Given the description of an element on the screen output the (x, y) to click on. 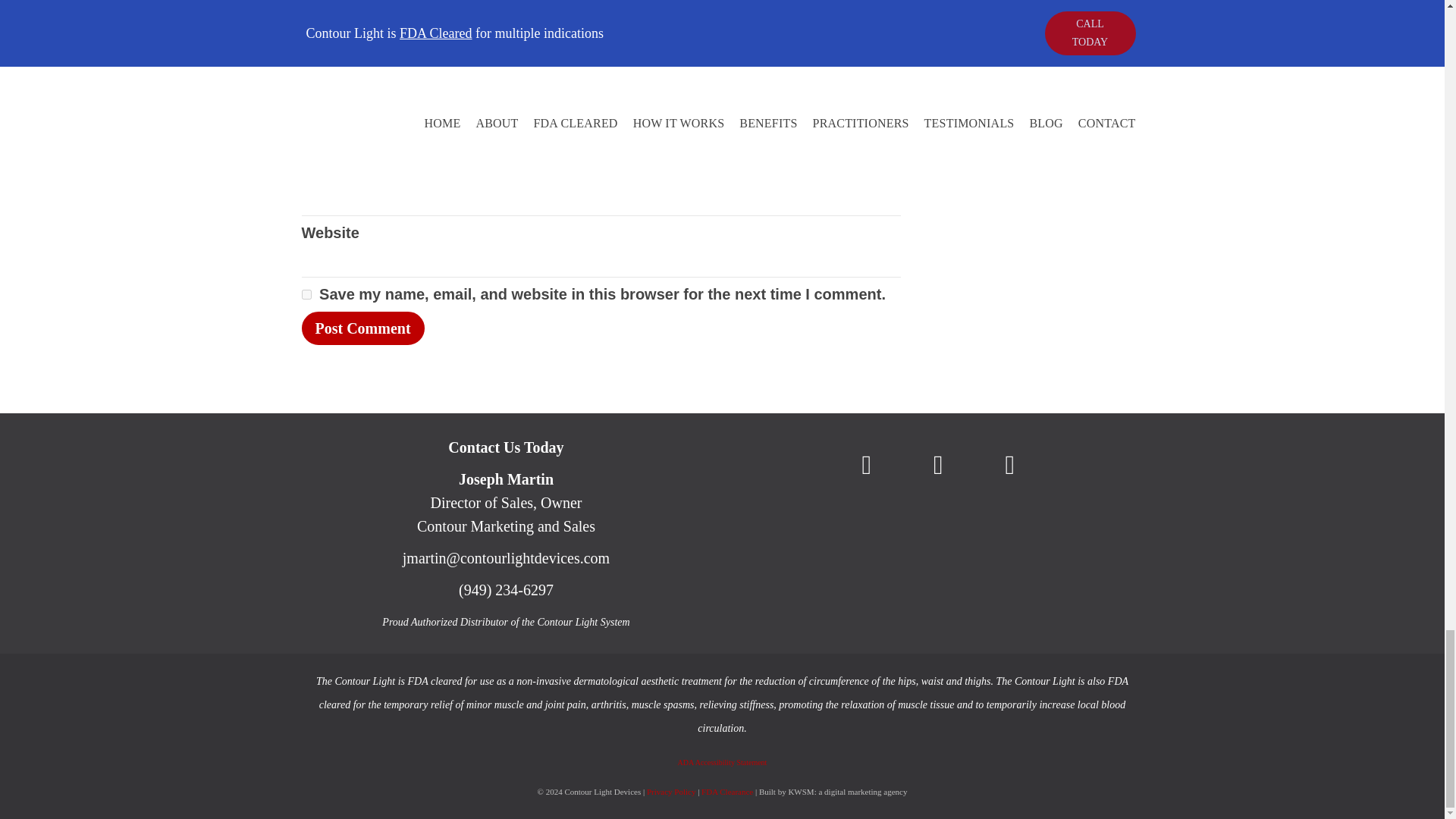
Join Contour Light Devices on YouTube (938, 465)
Post Comment (363, 328)
Join Contour Light Devices on LinkedIn (1009, 465)
Join Contour Light Devices on Facebook (865, 465)
yes (306, 294)
